Given the description of an element on the screen output the (x, y) to click on. 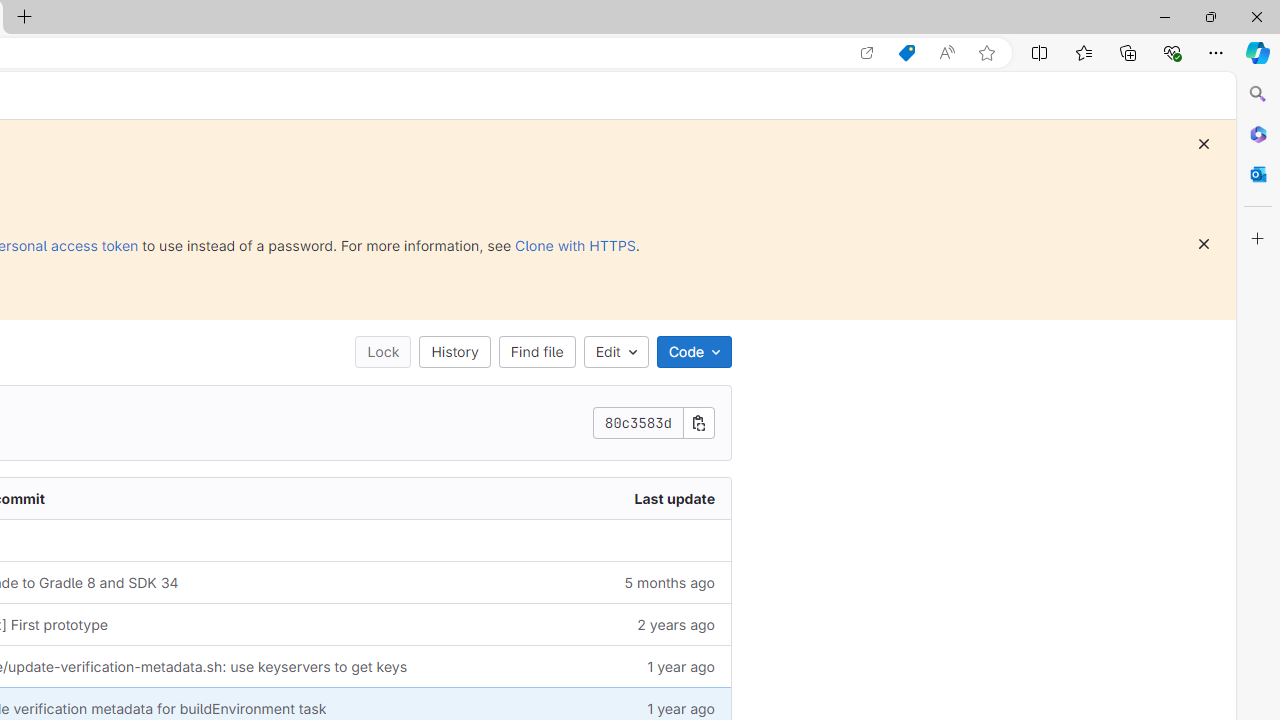
Last update (613, 498)
Find file (536, 351)
Clone with HTTPS (575, 245)
Open in app (867, 53)
Code (693, 351)
Dismiss (1203, 243)
5 months ago (613, 582)
